Given the description of an element on the screen output the (x, y) to click on. 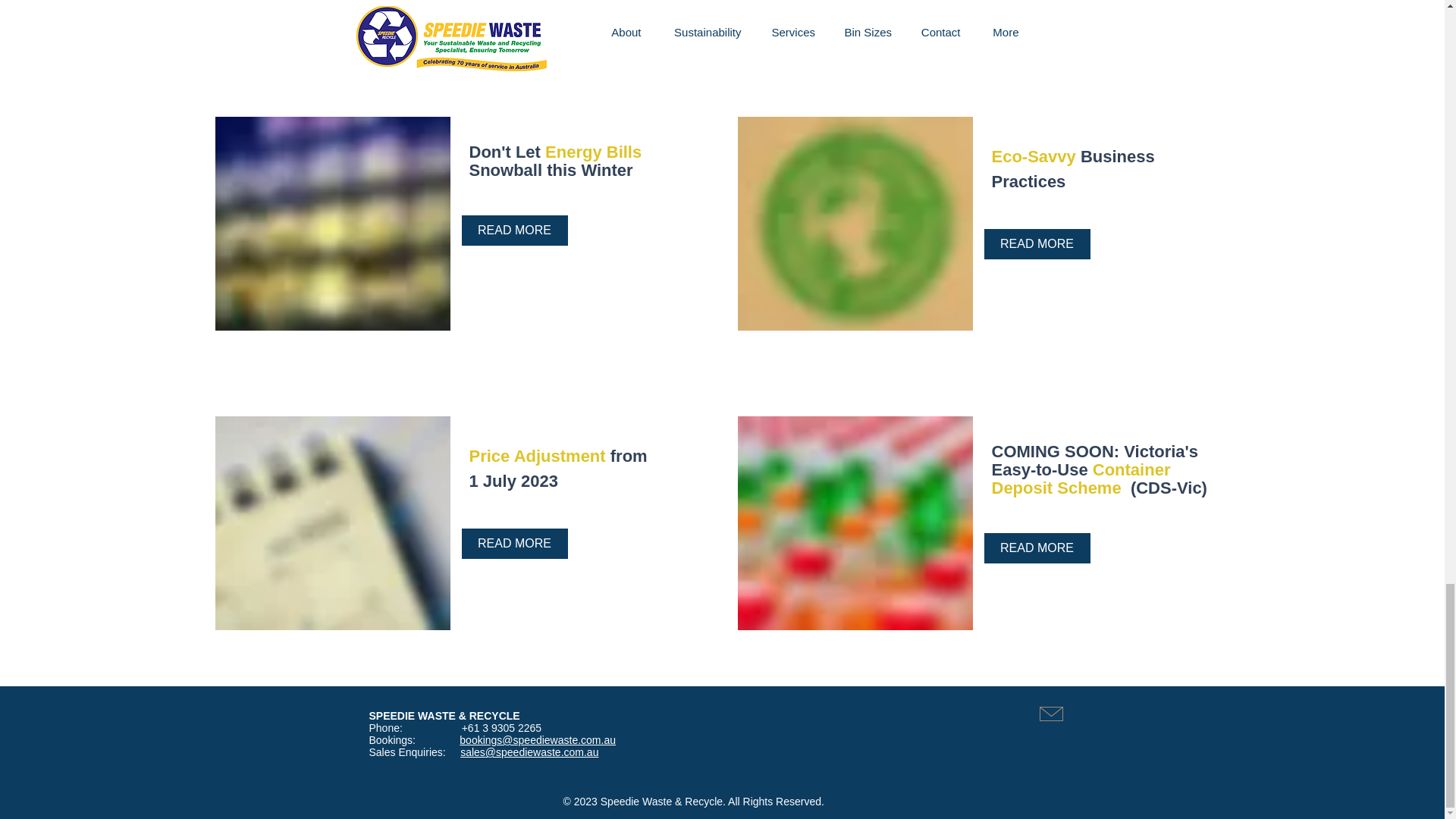
READ MORE (514, 230)
READ MORE (1037, 244)
